Given the description of an element on the screen output the (x, y) to click on. 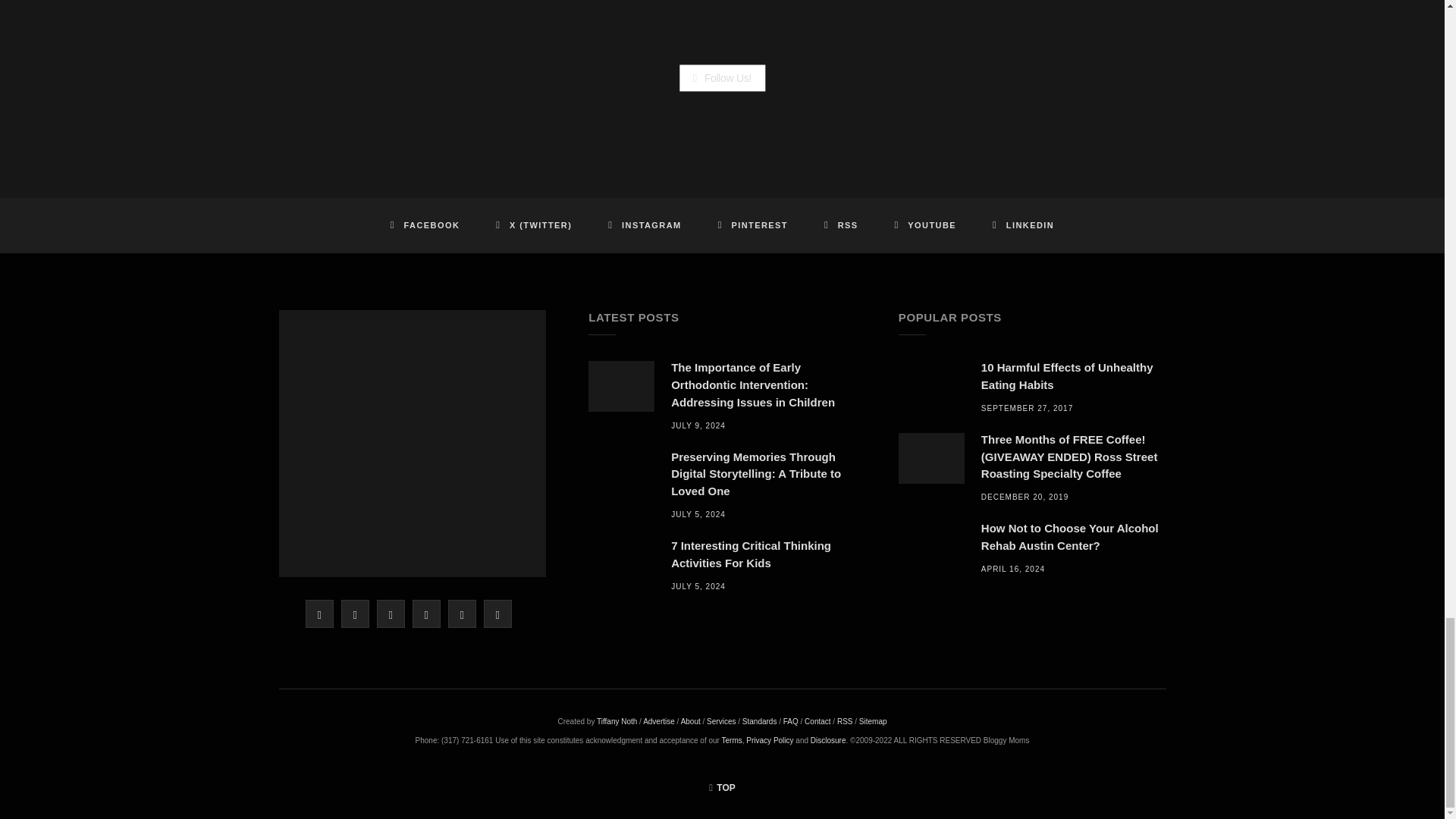
Instagram Image (601, 99)
Instagram Image (361, 99)
